Given the description of an element on the screen output the (x, y) to click on. 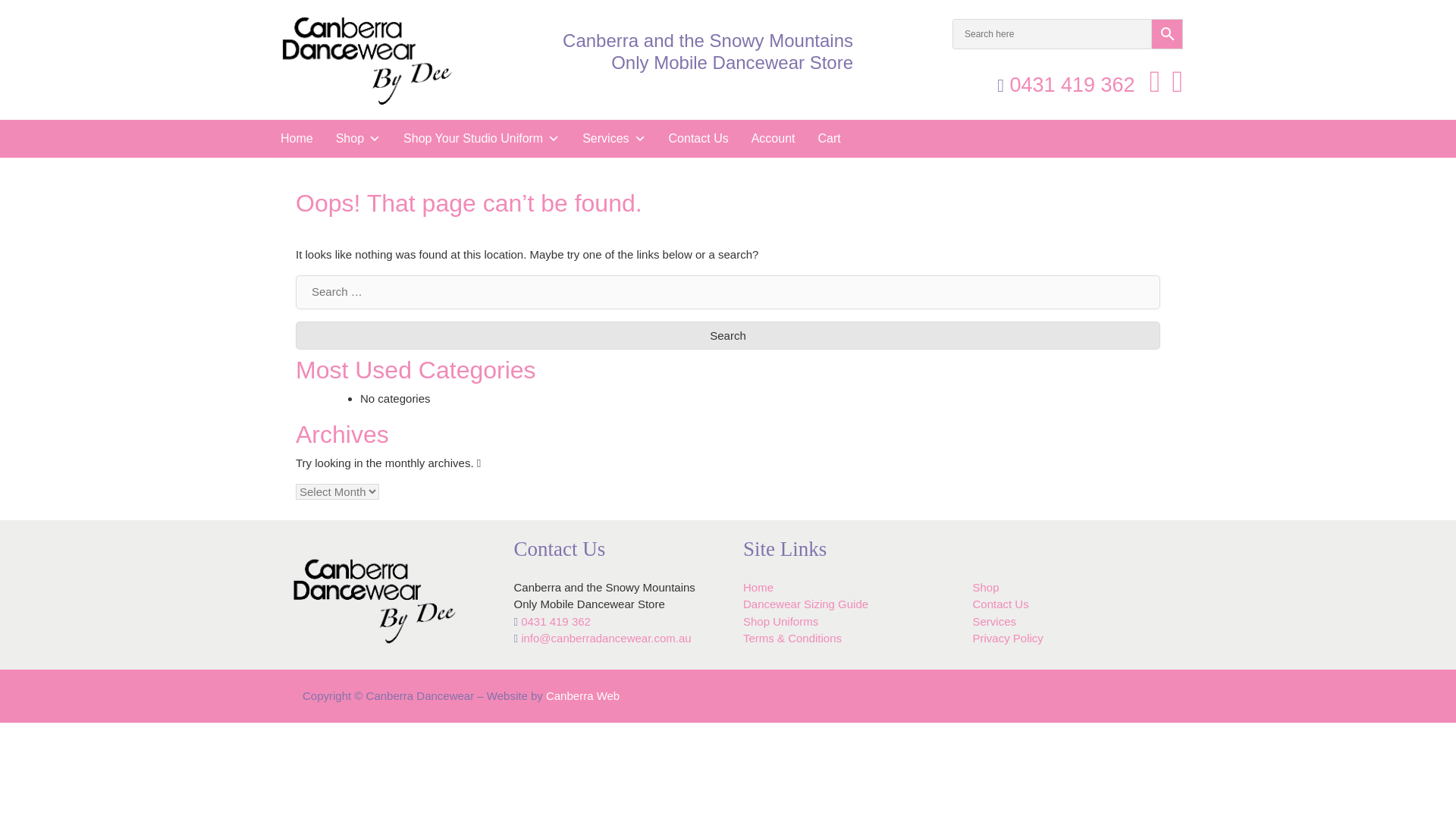
Web Design Canberra (583, 695)
 0431 419 362 (1069, 84)
Home (296, 138)
Search (727, 335)
Search (727, 335)
Shop (358, 138)
